Given the description of an element on the screen output the (x, y) to click on. 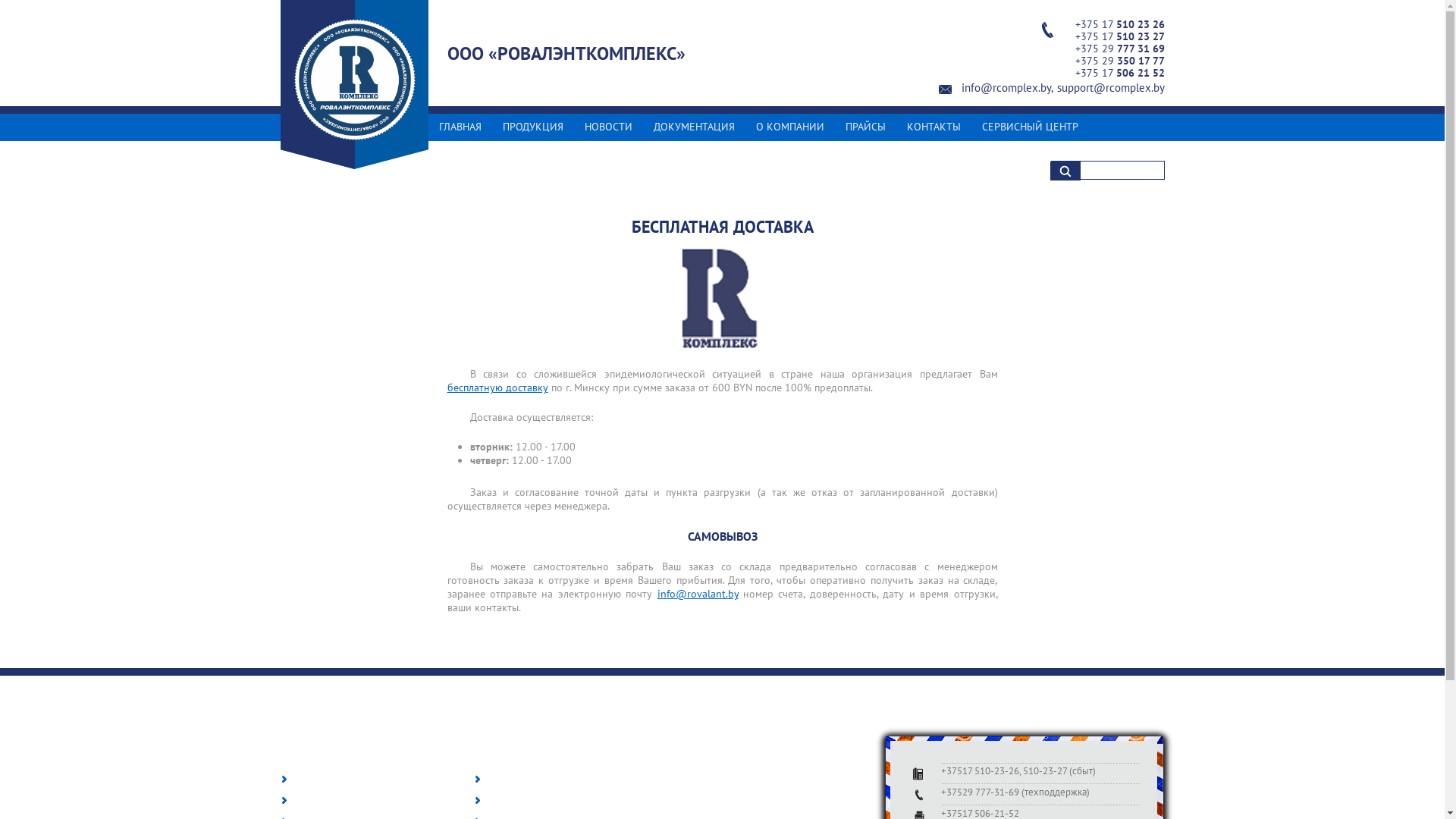
support@rcomplex.by Element type: text (1110, 87)
info@rovalant.by Element type: text (697, 593)
info@rcomplex.by, Element type: text (1007, 87)
